Given the description of an element on the screen output the (x, y) to click on. 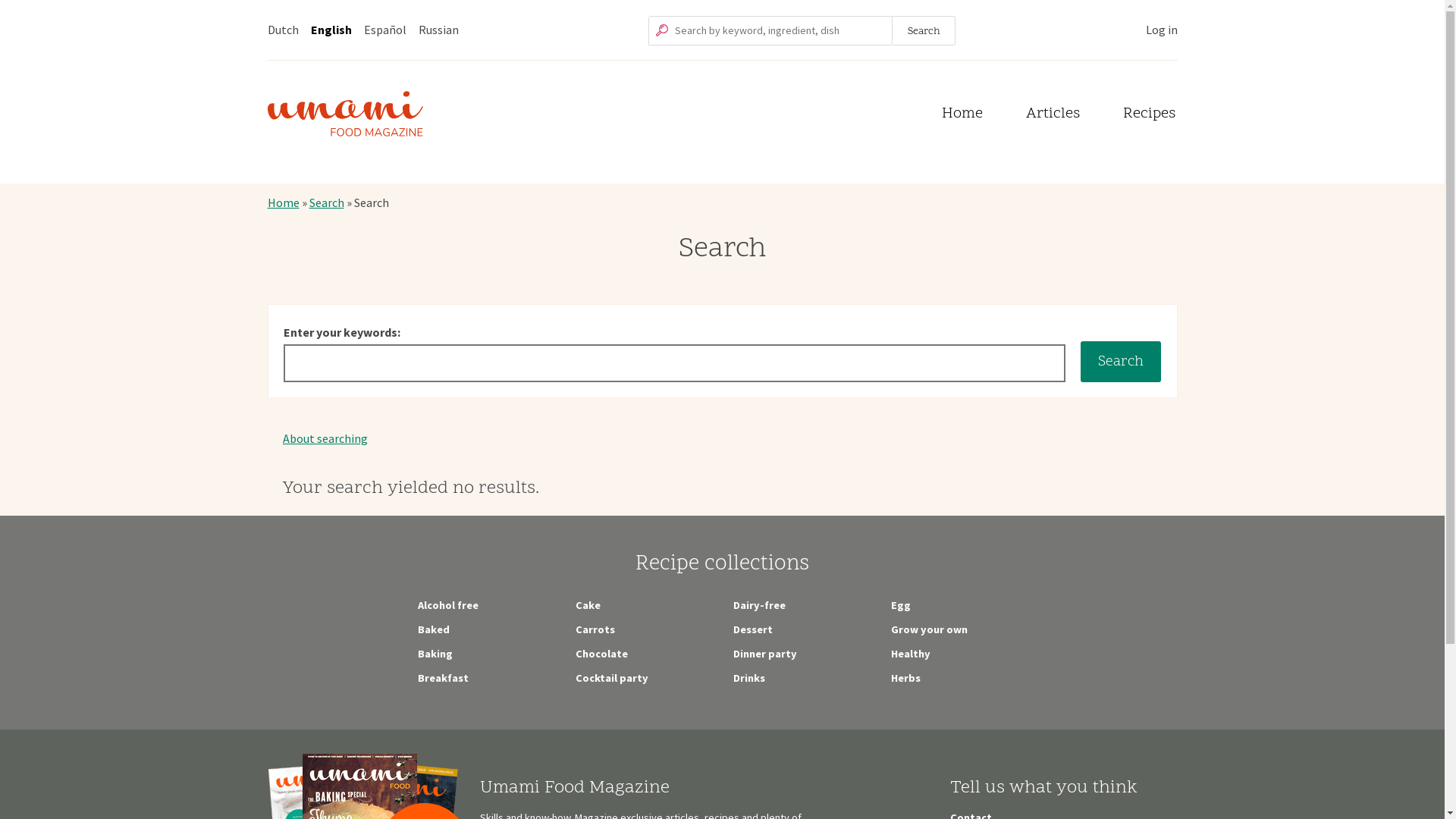
Alcohol free Element type: text (447, 604)
Drinks Element type: text (748, 677)
Egg Element type: text (900, 604)
Cake Element type: text (586, 604)
Healthy Element type: text (909, 653)
Dinner party Element type: text (764, 653)
Herbs Element type: text (904, 677)
Russian Element type: text (438, 29)
Dessert Element type: text (751, 629)
Baking Element type: text (434, 653)
Carrots Element type: text (594, 629)
Home Element type: text (961, 115)
Search Element type: text (923, 30)
Dairy-free Element type: text (758, 604)
Search Element type: text (1120, 361)
Articles Element type: text (1052, 115)
Search Element type: text (326, 202)
Dutch Element type: text (282, 29)
English Element type: text (330, 29)
Home Element type: text (282, 202)
Enter the terms you wish to search for. Element type: hover (770, 29)
Baked Element type: text (432, 629)
Recipes Element type: text (1148, 115)
Chocolate Element type: text (600, 653)
Cocktail party Element type: text (610, 677)
Breakfast Element type: text (442, 677)
About searching Element type: text (324, 438)
Log in Element type: text (1160, 29)
Grow your own Element type: text (928, 629)
Skip to main content Element type: text (722, 1)
